Given the description of an element on the screen output the (x, y) to click on. 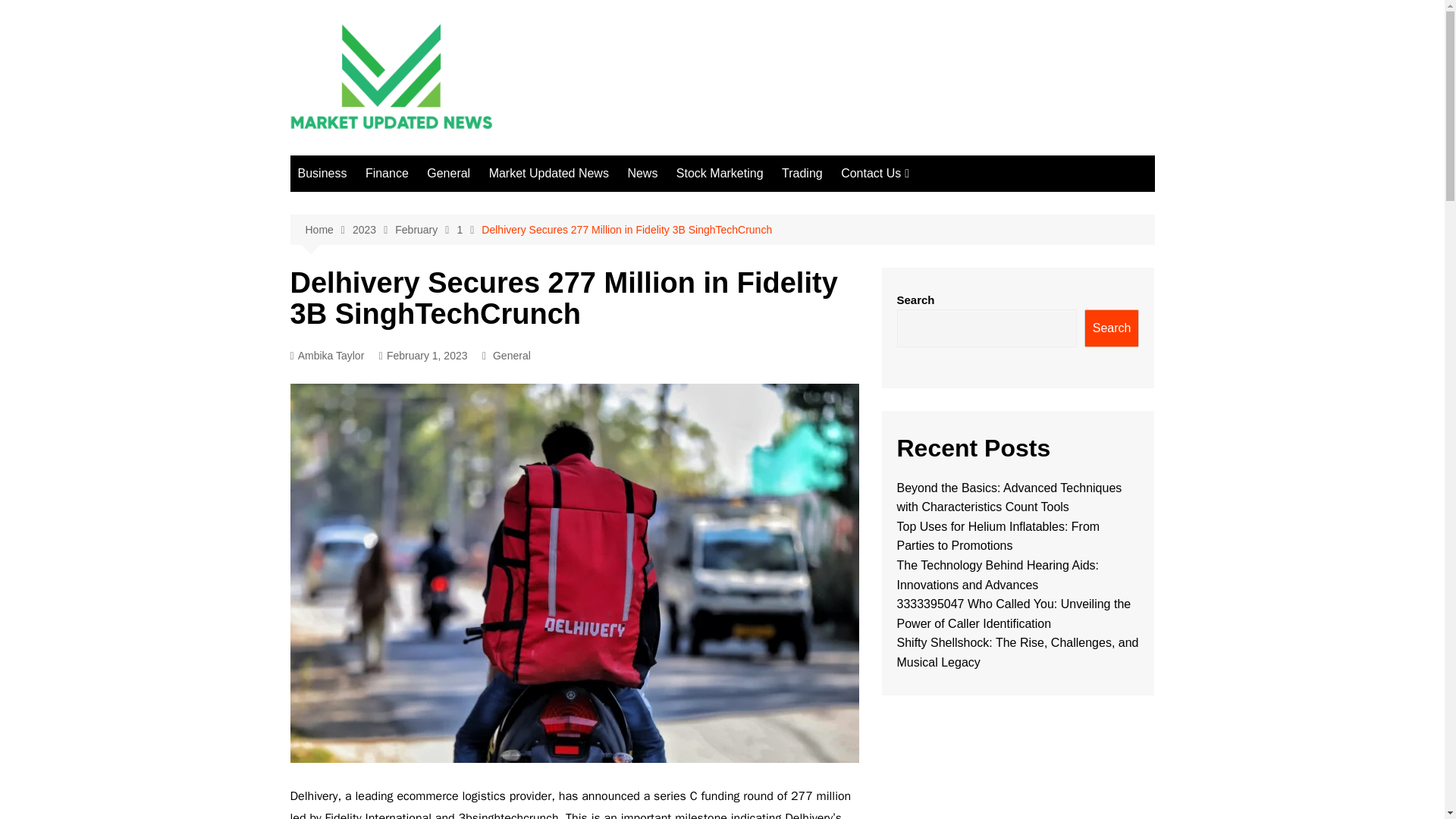
Write For Us (916, 354)
February (425, 230)
Delhivery Secures 277 Million in Fidelity 3B SinghTechCrunch (626, 229)
Finance (387, 173)
Market Updated News (548, 173)
General (512, 355)
Terms and Conditions (916, 303)
Stock Marketing (719, 173)
Cookies Policy (916, 253)
News (642, 173)
